Given the description of an element on the screen output the (x, y) to click on. 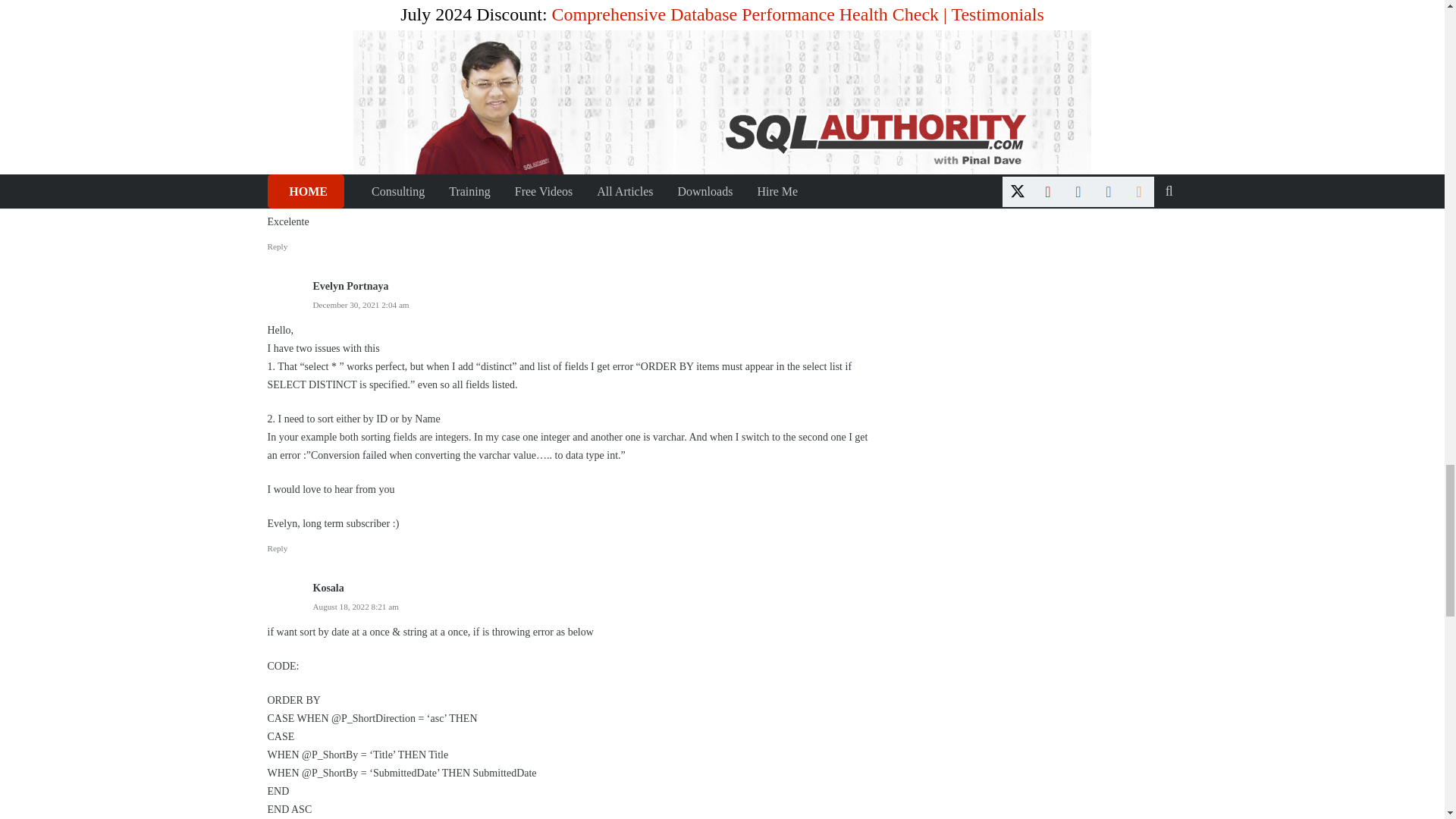
December 30, 2021 2:04 am (361, 304)
August 18, 2022 8:21 am (355, 605)
June 11, 2020 4:10 am (350, 196)
June 10, 2020 8:05 pm (351, 72)
